Given the description of an element on the screen output the (x, y) to click on. 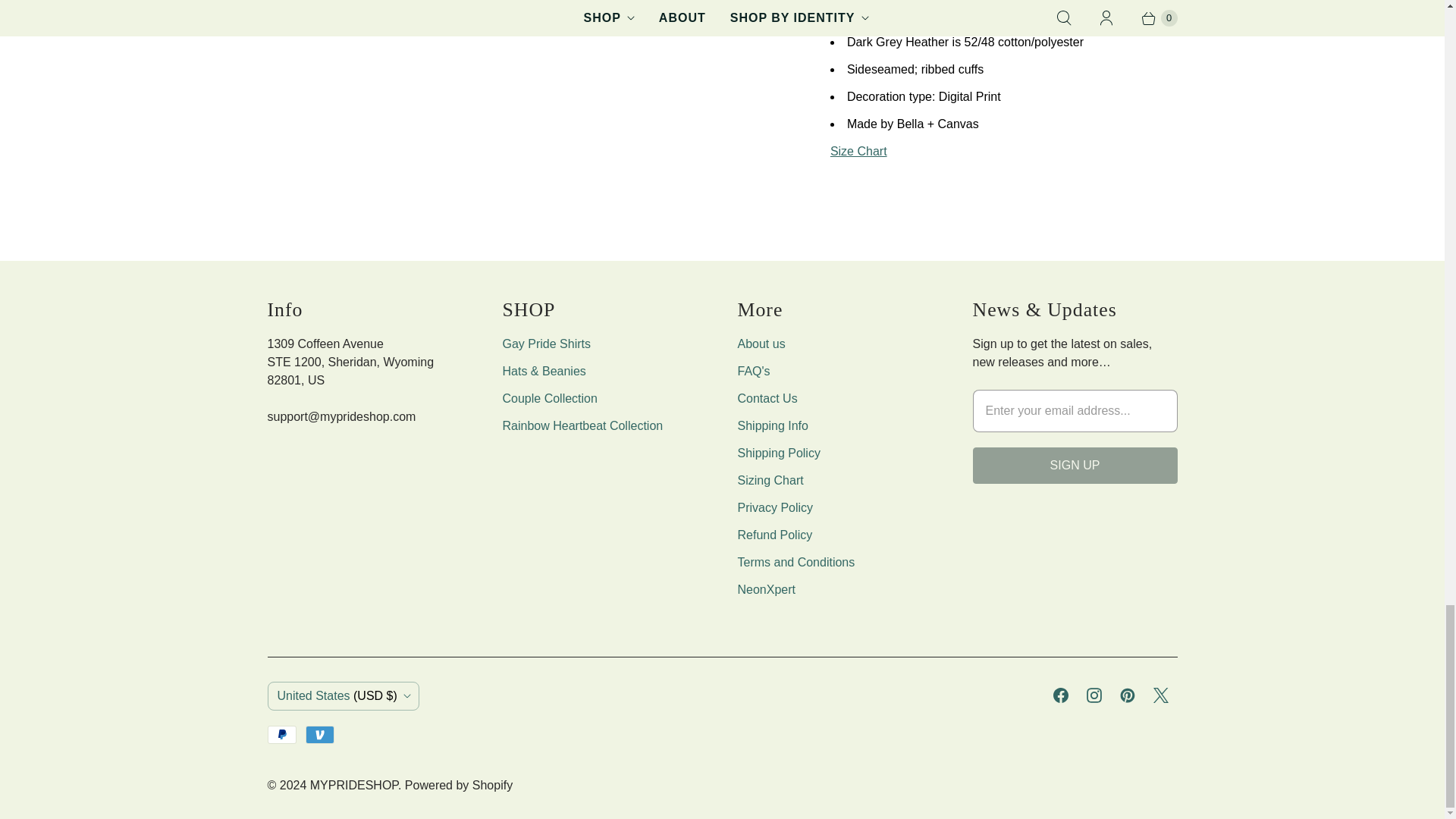
Venmo (319, 734)
Sign Up (1074, 465)
PayPal (280, 734)
